Given the description of an element on the screen output the (x, y) to click on. 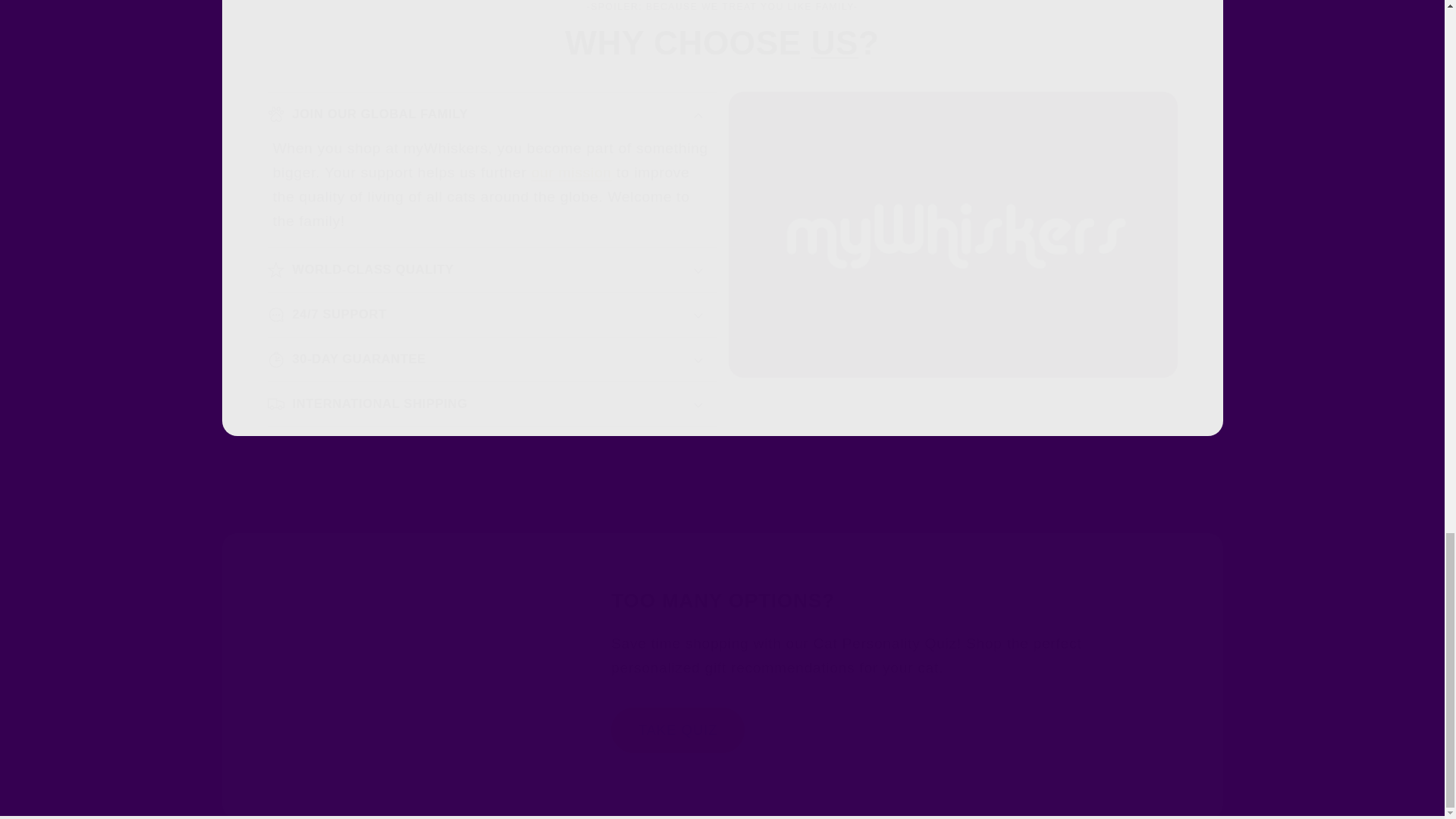
ABOUT US (571, 172)
ABOUT US (721, 32)
